Given the description of an element on the screen output the (x, y) to click on. 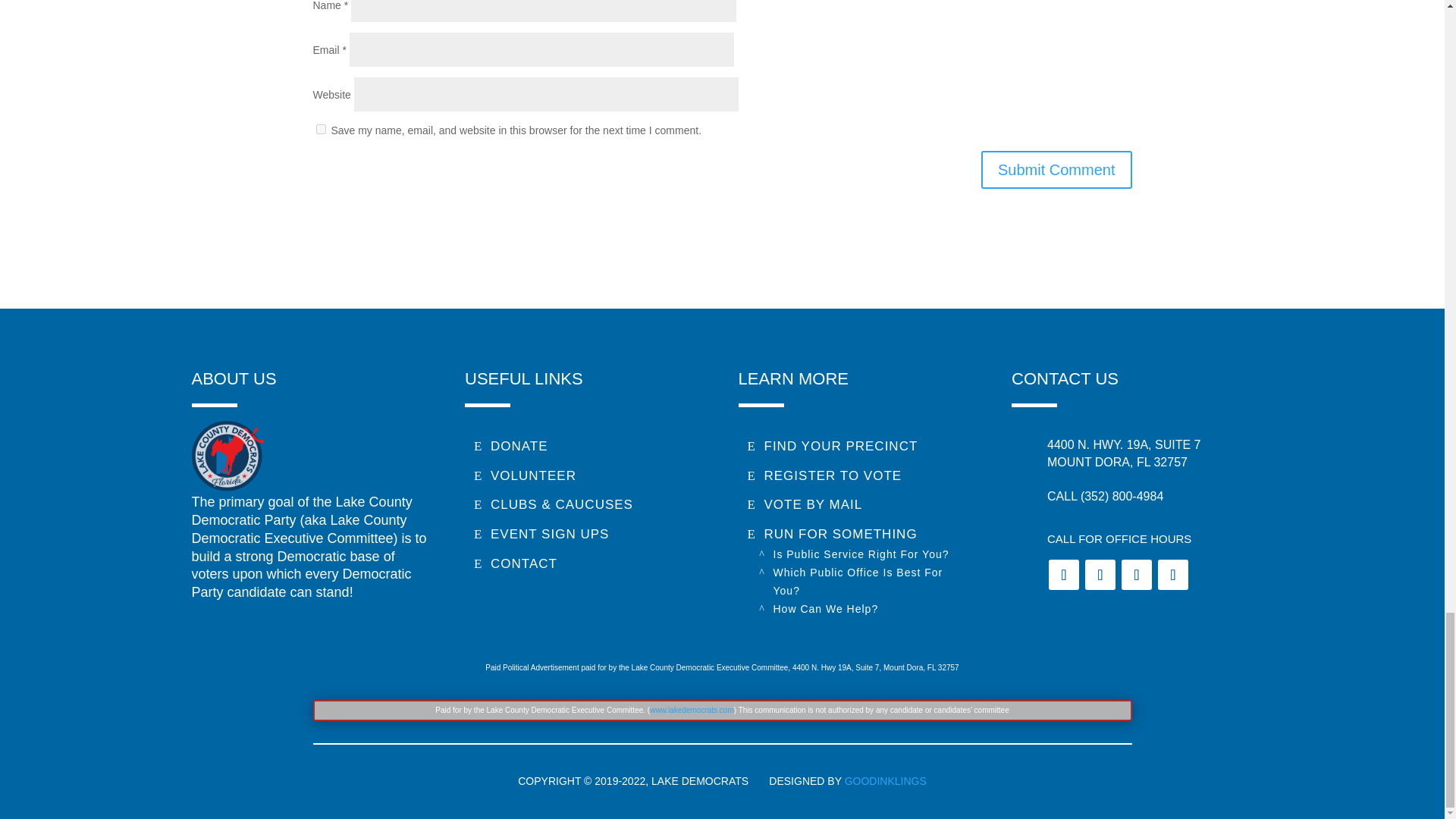
Follow on Facebook (1063, 574)
yes (319, 129)
Submit Comment (1056, 169)
VOLUNTEER (524, 476)
Follow on Twitter (1099, 574)
FIND YOUR PRECINCT (832, 446)
CONTACT (515, 564)
DONATE (510, 446)
Submit Comment (1056, 169)
Follow on Instagram (1136, 574)
